Given the description of an element on the screen output the (x, y) to click on. 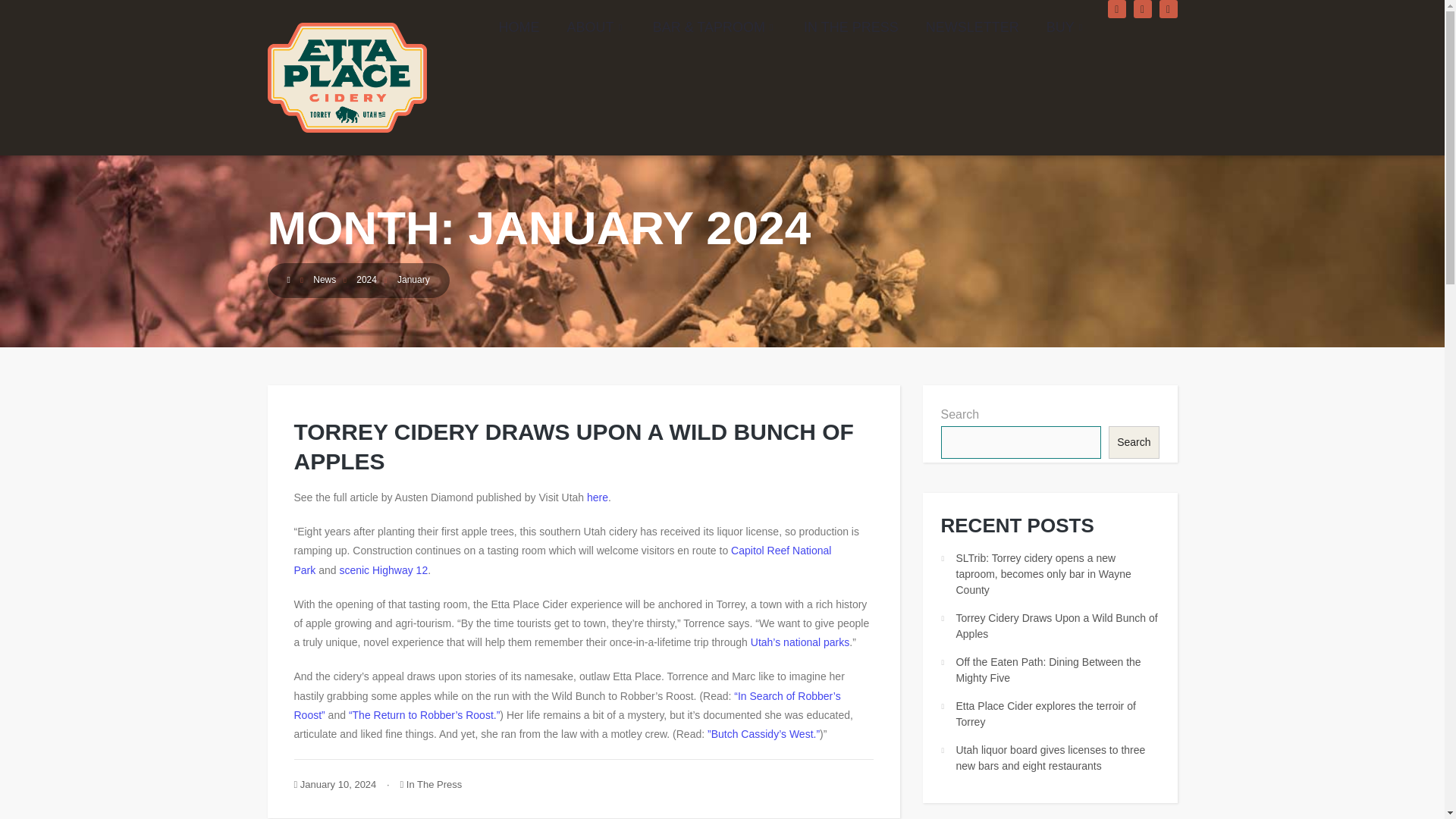
News (324, 279)
HOME (519, 27)
NEWSLETTER (972, 27)
Go to News. (324, 279)
2024 (366, 279)
Go to the 2024 archives. (366, 279)
Instagram (1142, 9)
IN THE PRESS (851, 27)
Trip Advisor (1167, 9)
BUY (1066, 27)
TORREY CIDERY DRAWS UPON A WILD BUNCH OF APPLES (573, 446)
Facebook (1116, 9)
ABOUT (596, 27)
